Given the description of an element on the screen output the (x, y) to click on. 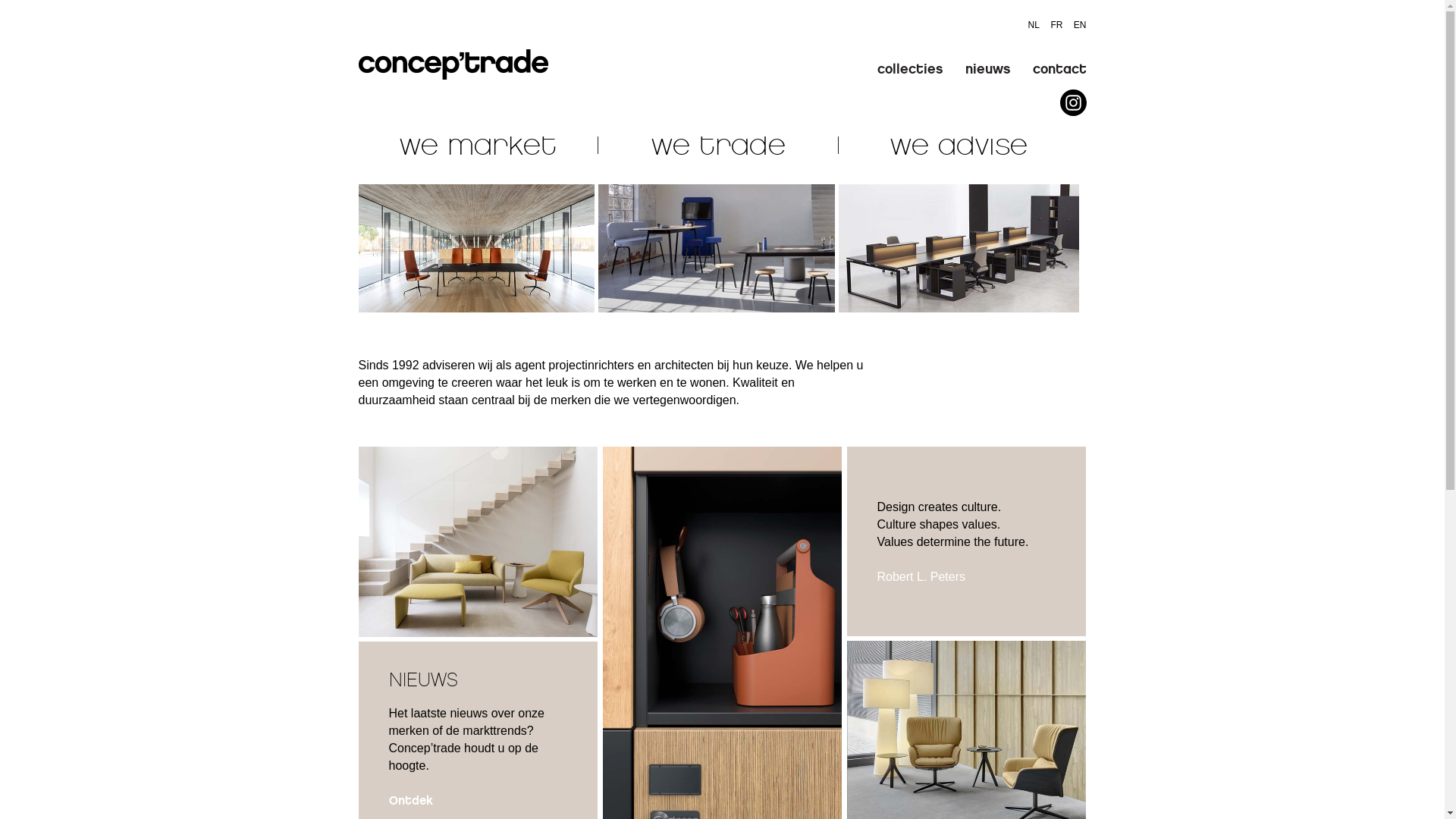
contact Element type: text (1059, 68)
Concep't Trade Element type: text (452, 53)
collecties Element type: text (908, 68)
nieuws Element type: text (986, 68)
Ontdek Element type: text (410, 800)
